Given the description of an element on the screen output the (x, y) to click on. 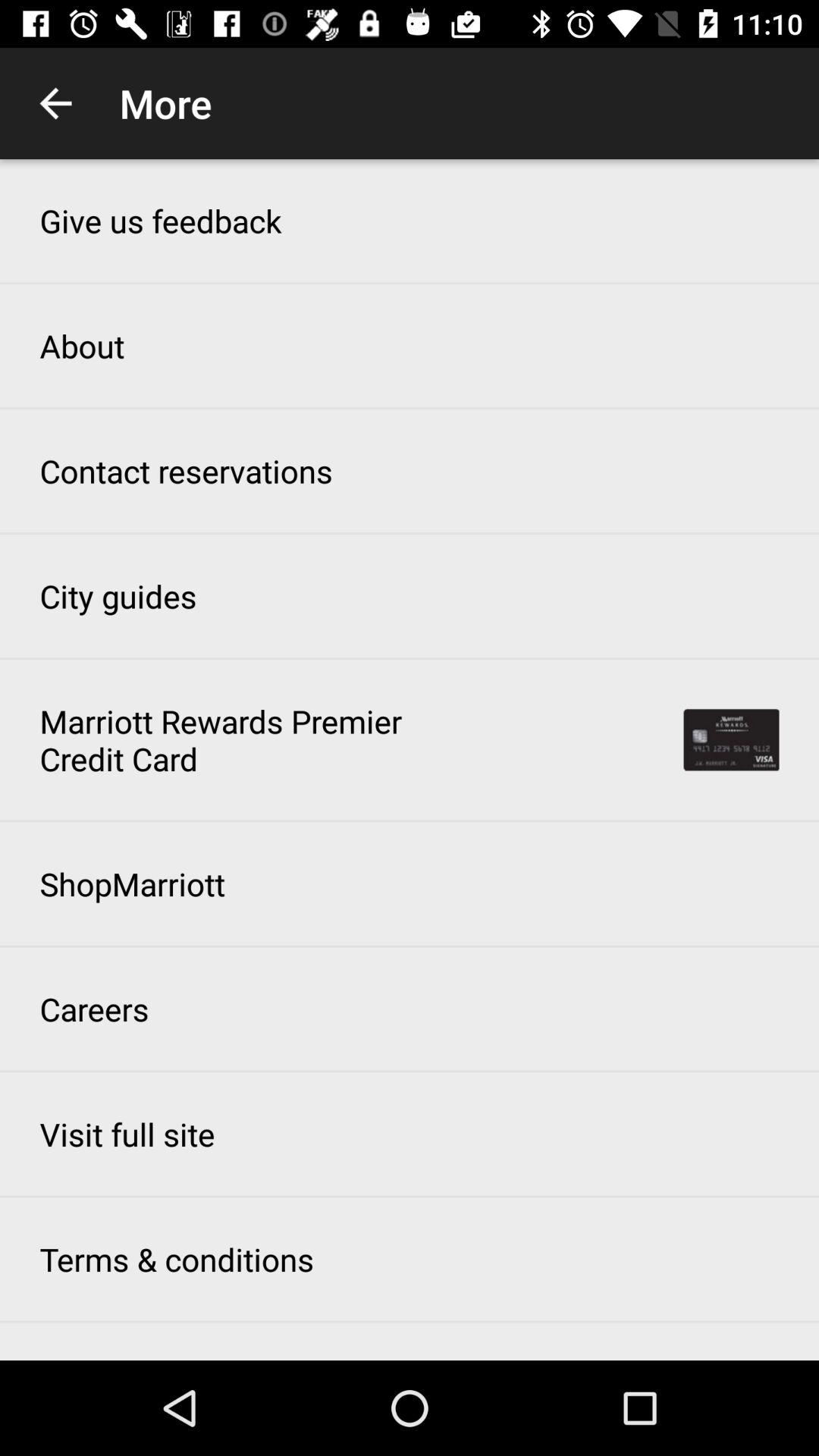
click give us feedback (160, 220)
